Given the description of an element on the screen output the (x, y) to click on. 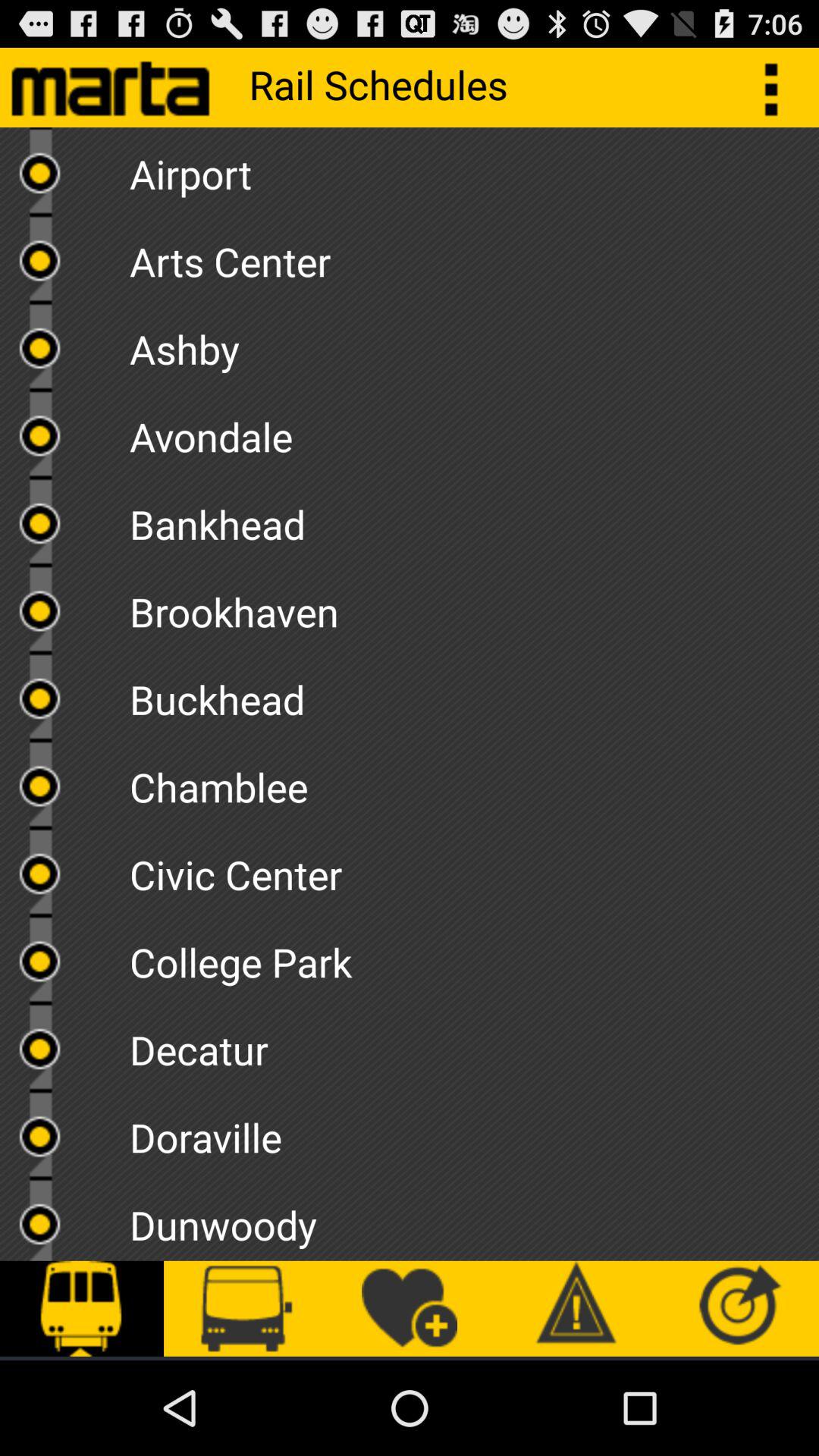
open the icon above brookhaven app (474, 518)
